Given the description of an element on the screen output the (x, y) to click on. 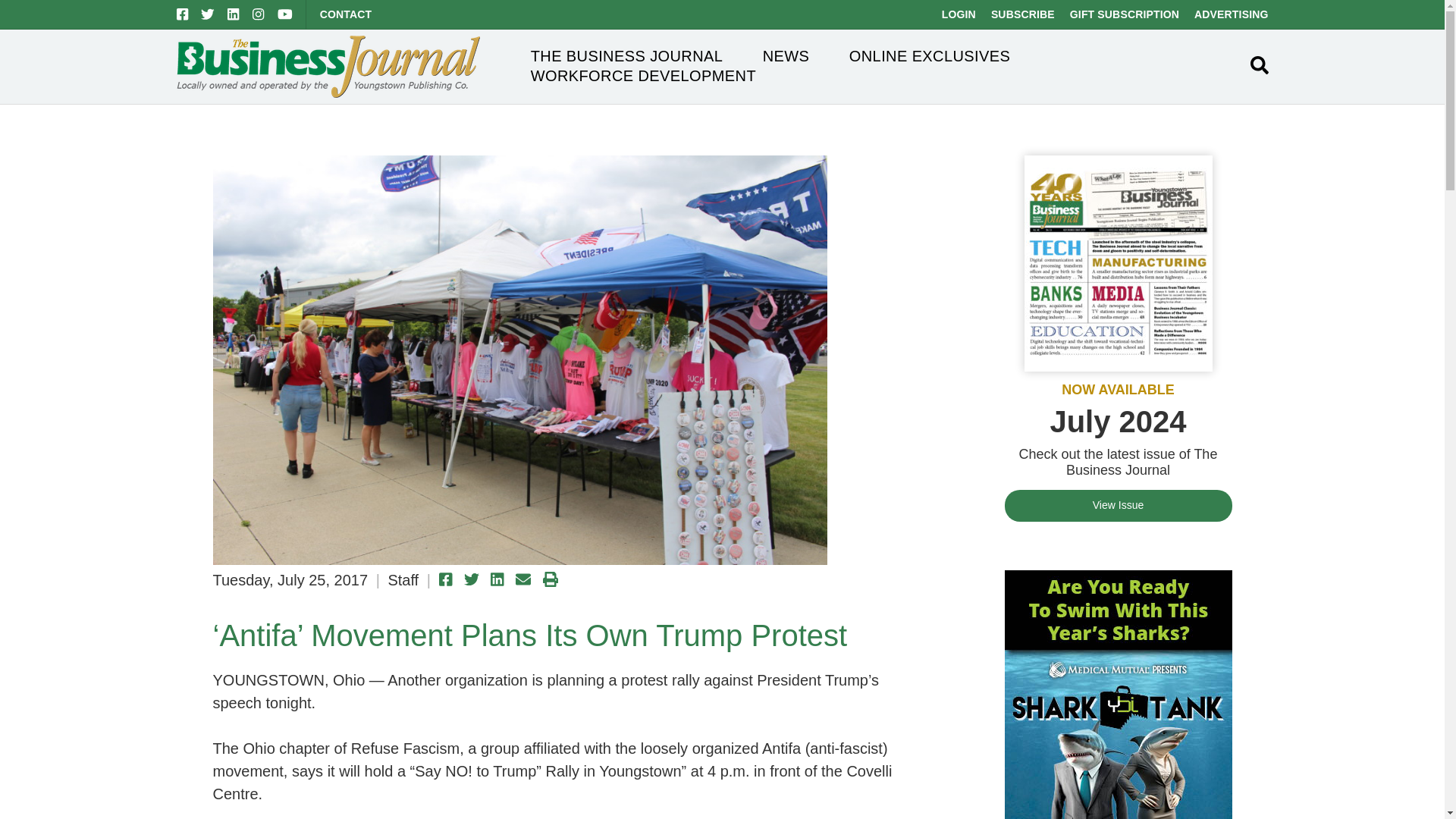
TWITTER (207, 14)
CONTACT (346, 14)
TWITTER (207, 13)
YouTube (285, 13)
YOUTUBE (285, 14)
NEWS (785, 55)
INSTAGRAM (257, 13)
Facebook (181, 13)
ADVERTISING (1230, 14)
Share on LinkedIn (496, 579)
FACEBOOK (181, 13)
THE BUSINESS JOURNAL (627, 55)
Share on Twitter (471, 579)
Twitter (207, 13)
YOUTUBE (285, 13)
